Given the description of an element on the screen output the (x, y) to click on. 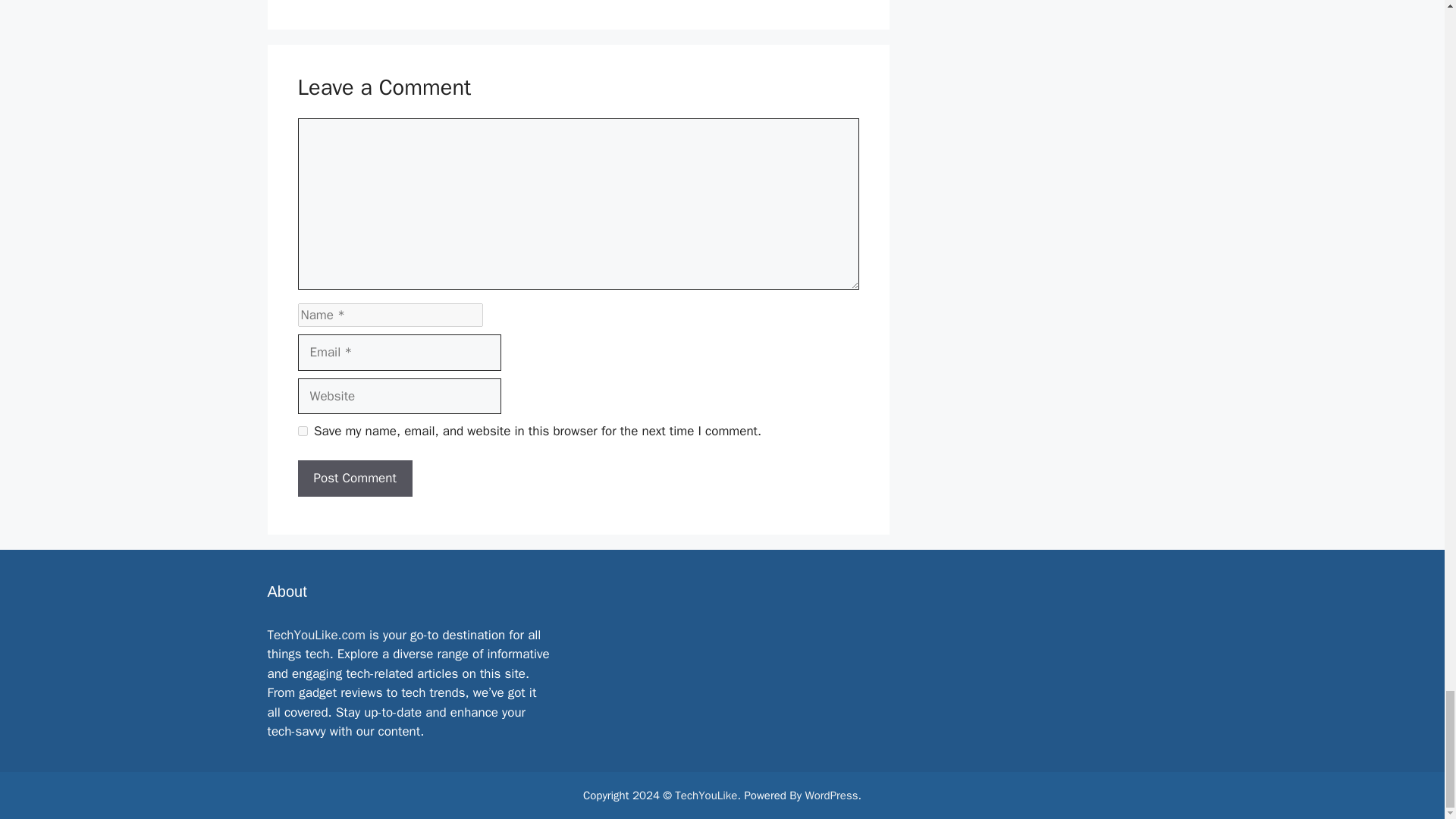
Post Comment (354, 478)
yes (302, 430)
Post Comment (354, 478)
WordPress (831, 795)
TechYouLike.com (315, 634)
TechYouLike (705, 795)
